Given the description of an element on the screen output the (x, y) to click on. 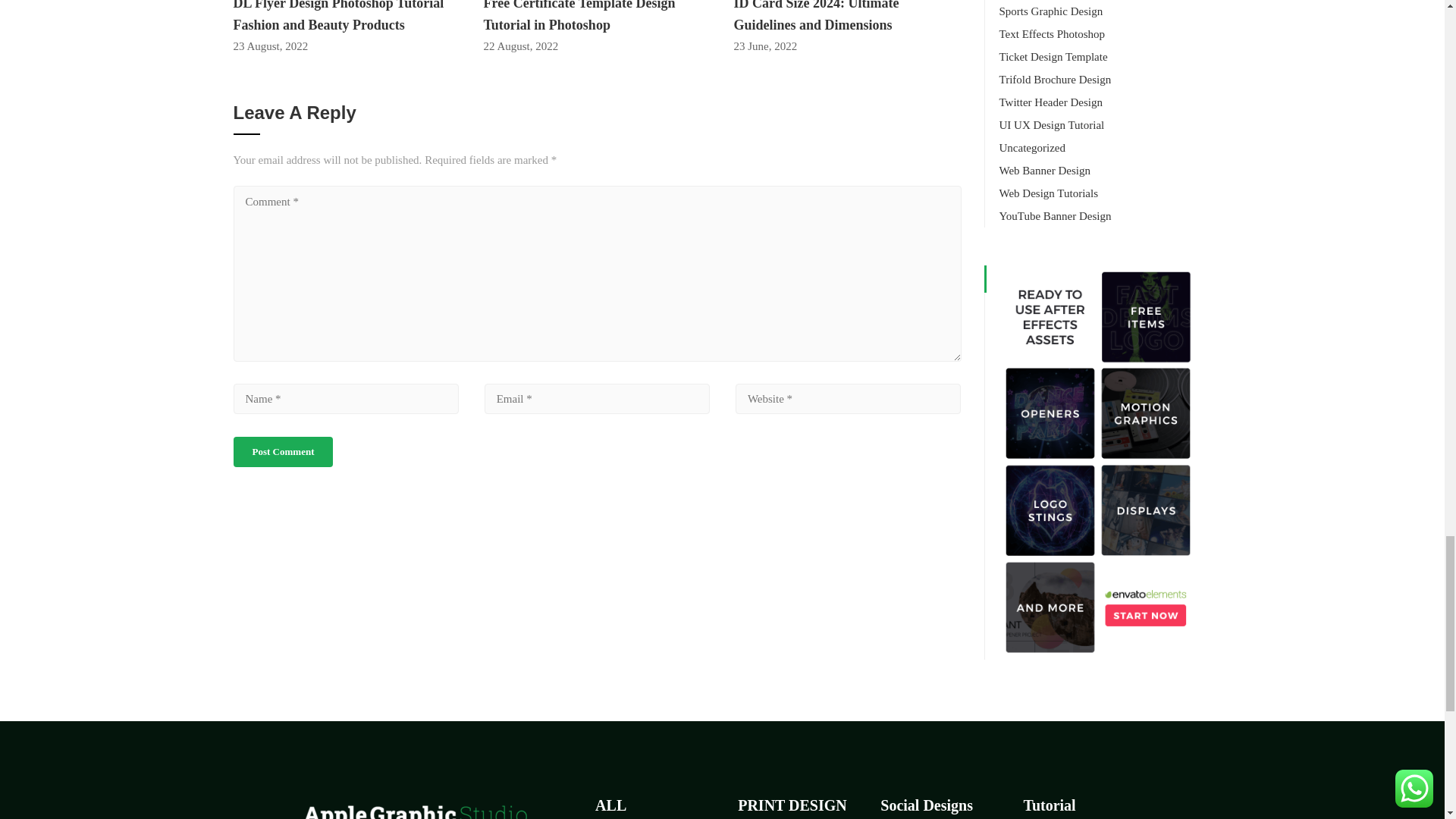
Post Comment (282, 451)
